Given the description of an element on the screen output the (x, y) to click on. 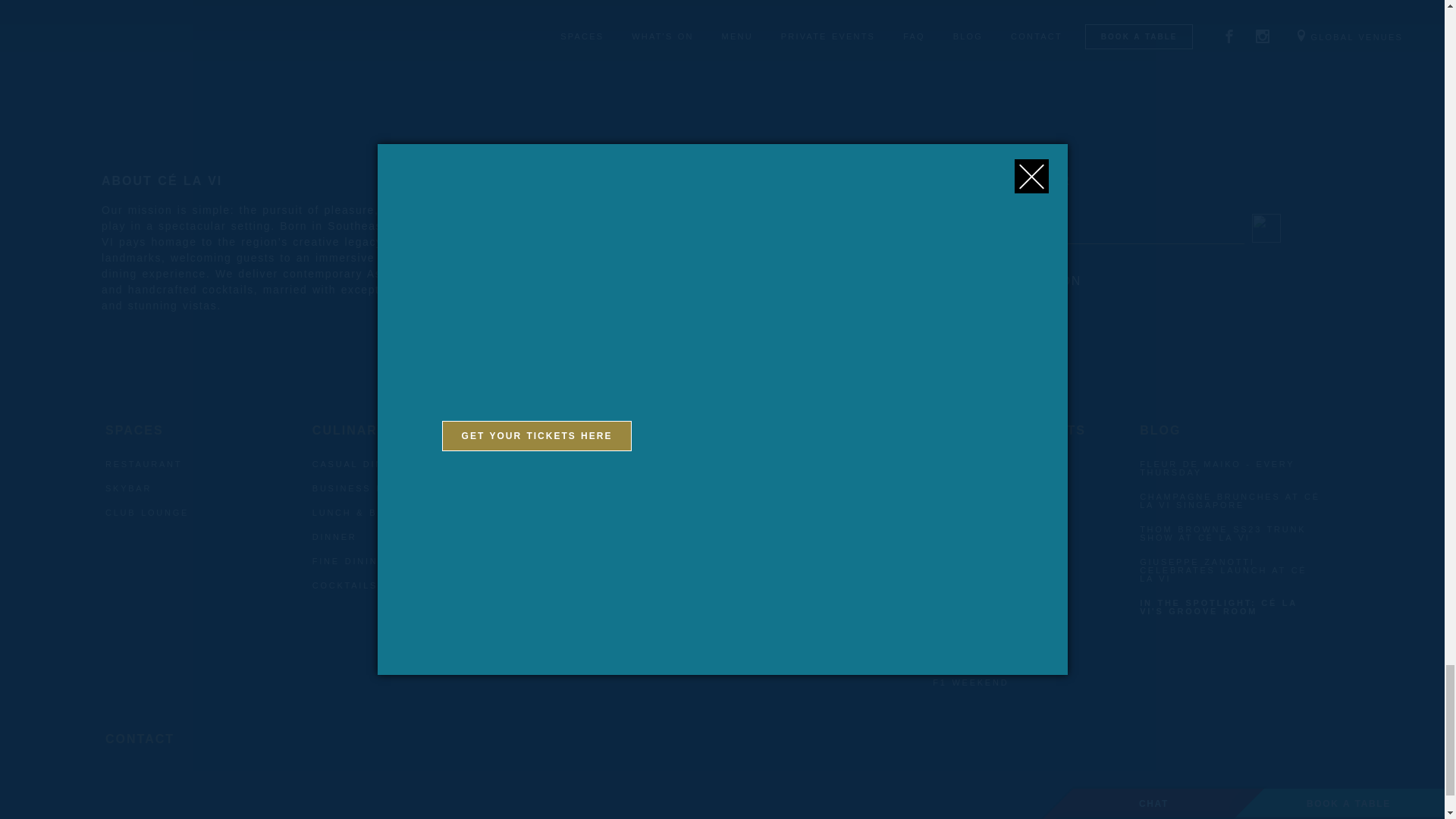
CLUB LOUNGE (146, 513)
FAMILY GATHERINGS (786, 488)
RESTAURANT (143, 464)
PARTIES (801, 429)
SKYBAR (127, 488)
BIRTHDAY CELEBRATIONS (801, 513)
CASUAL DINING (358, 464)
DINNER (334, 537)
SPACES (146, 429)
WEDDINGS (964, 488)
21ST BIRTHDAY PARTY (792, 561)
Get Directions (579, 249)
COCKTAILS (345, 586)
FINE DINING (350, 561)
Connect via WhatsApp (603, 296)
